Given the description of an element on the screen output the (x, y) to click on. 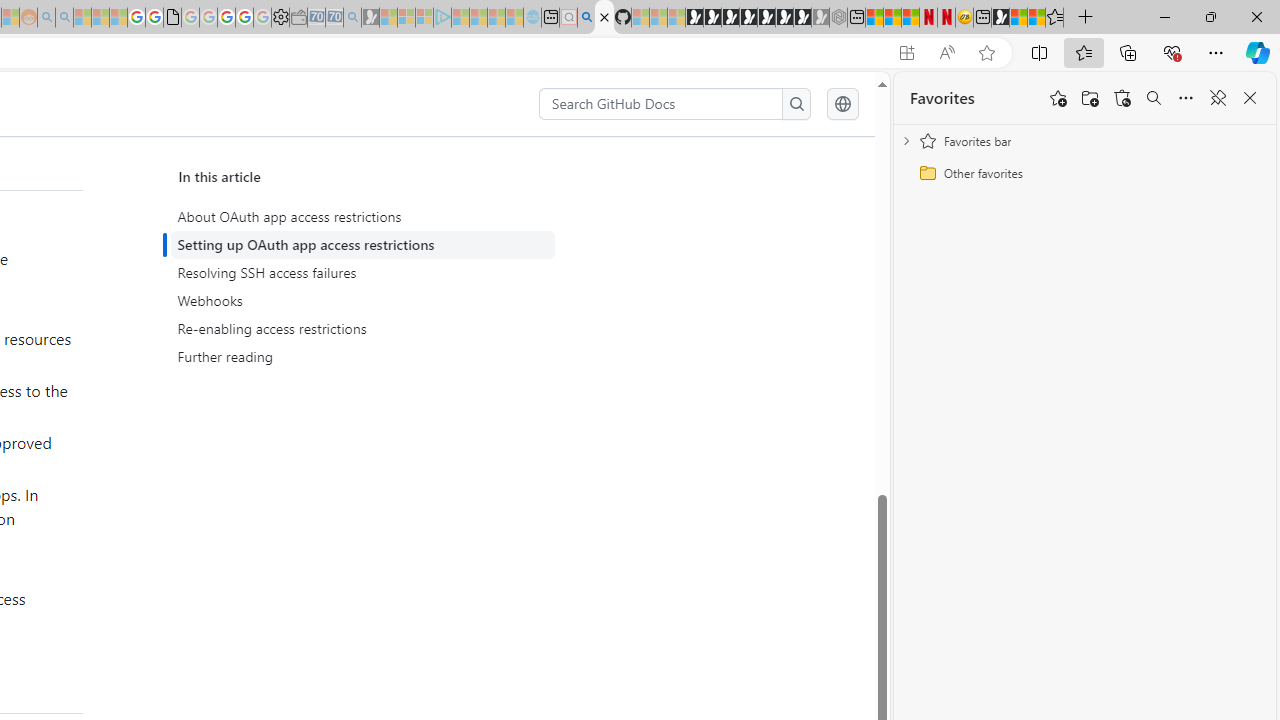
Play Cave FRVR in your browser | Games from Microsoft Start (729, 17)
Further reading (362, 356)
Add folder (1089, 98)
Wildlife - MSN (1017, 17)
